Given the description of an element on the screen output the (x, y) to click on. 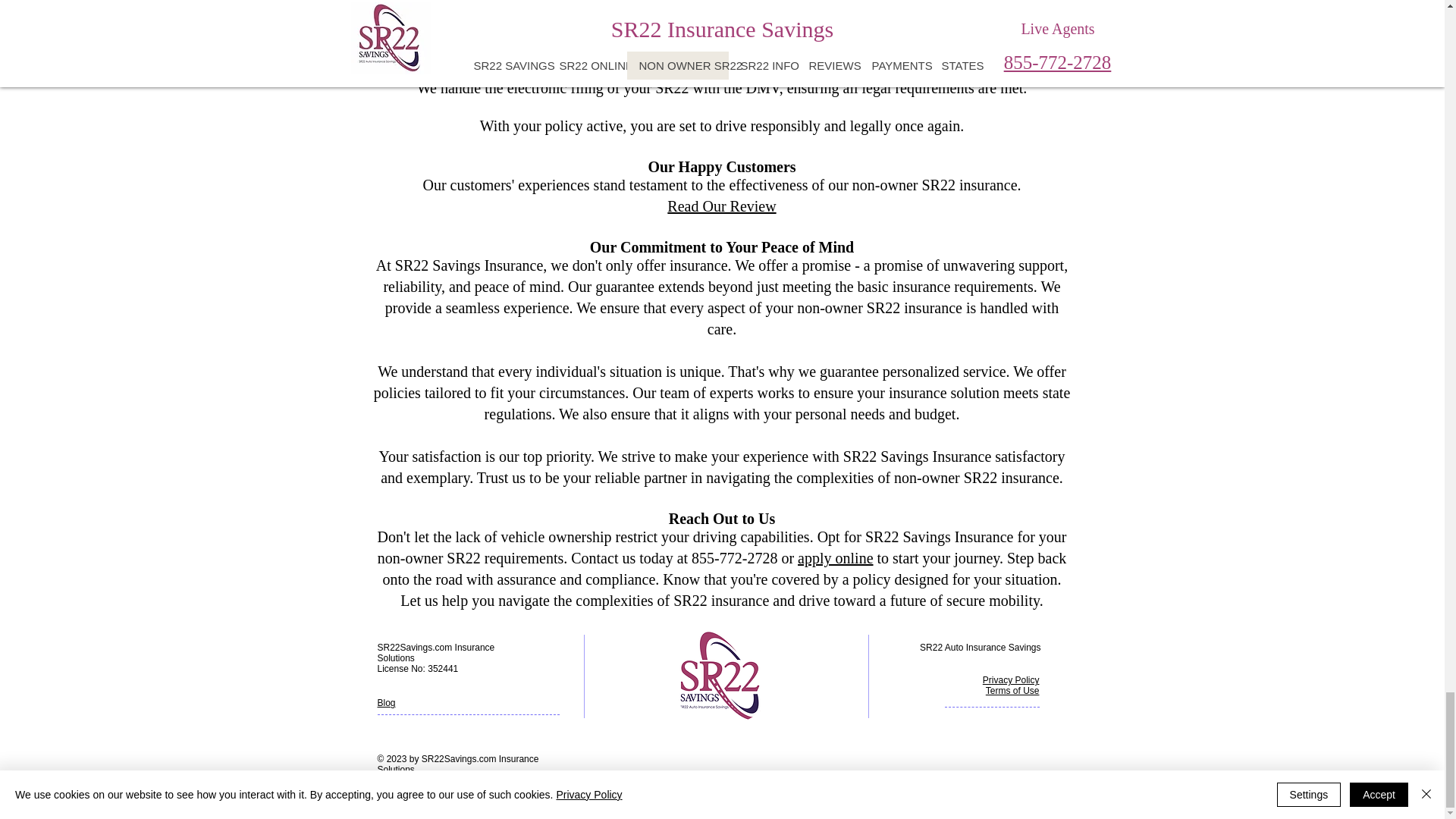
apply online (834, 557)
Privacy Policy (1010, 679)
Terms of Use (1012, 690)
Blog (386, 702)
Read Our Review (721, 207)
